Given the description of an element on the screen output the (x, y) to click on. 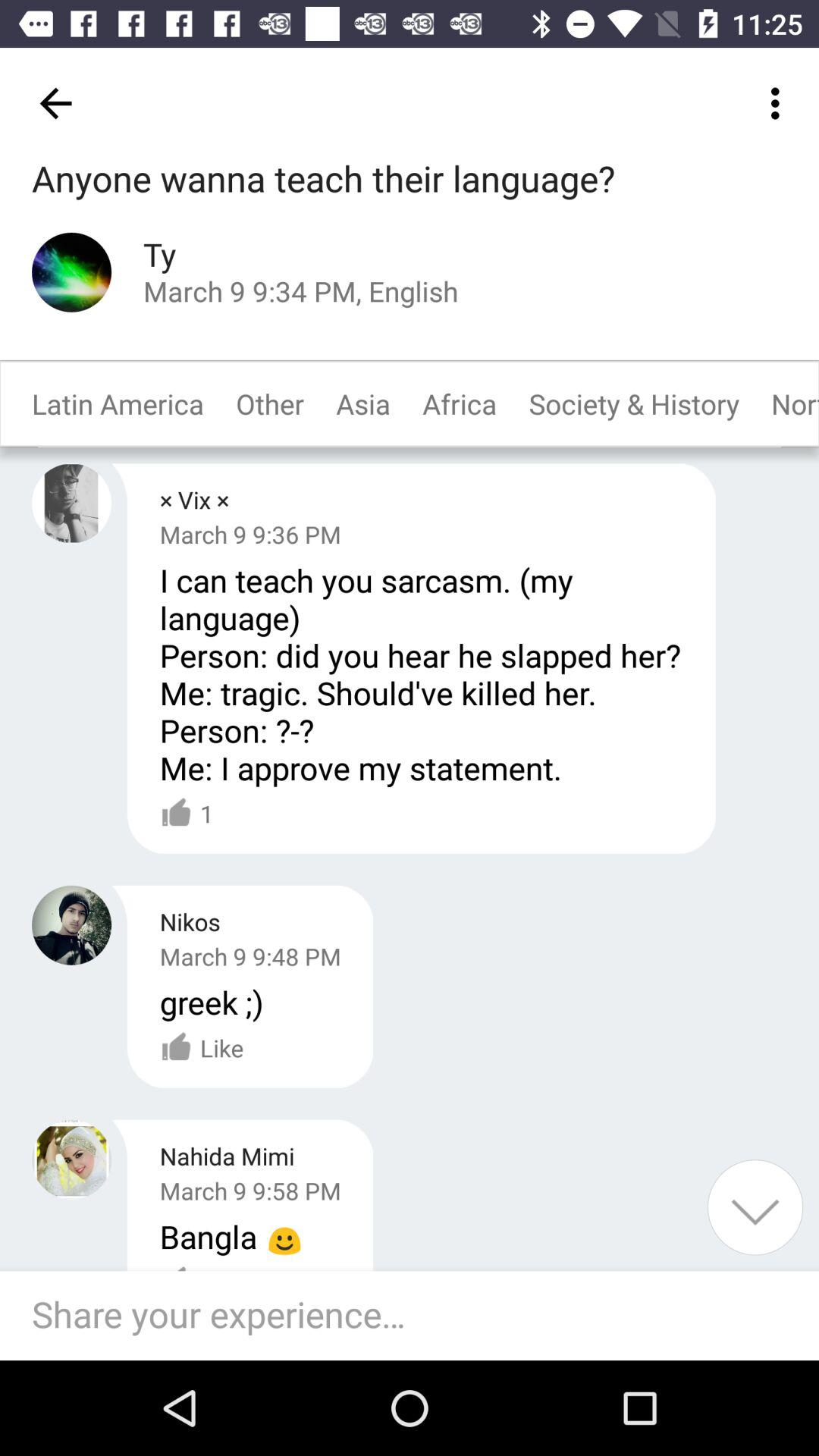
tap item next to the march 9 9 icon (755, 1207)
